Given the description of an element on the screen output the (x, y) to click on. 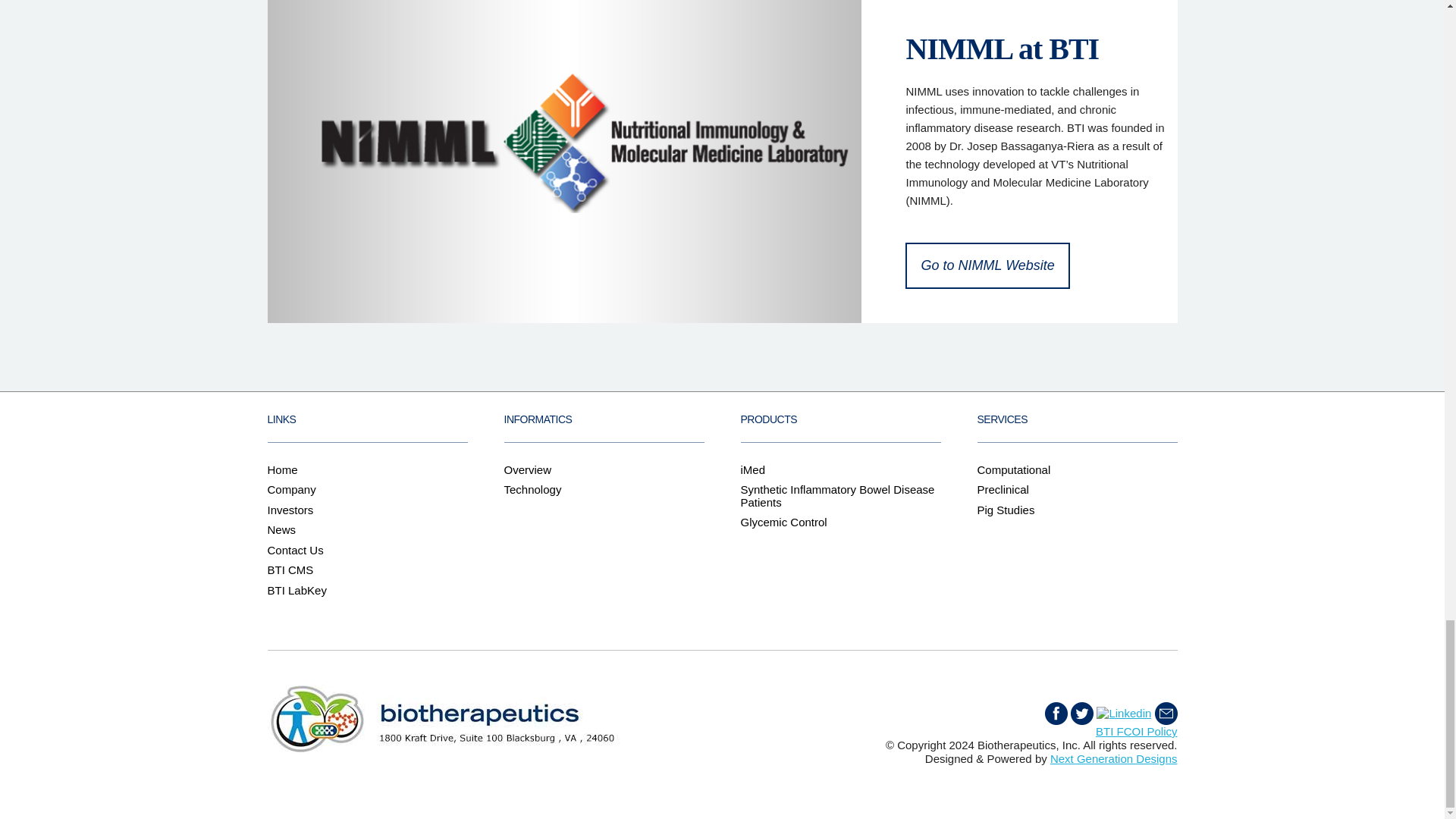
Go to NIMML Website (986, 265)
